Given the description of an element on the screen output the (x, y) to click on. 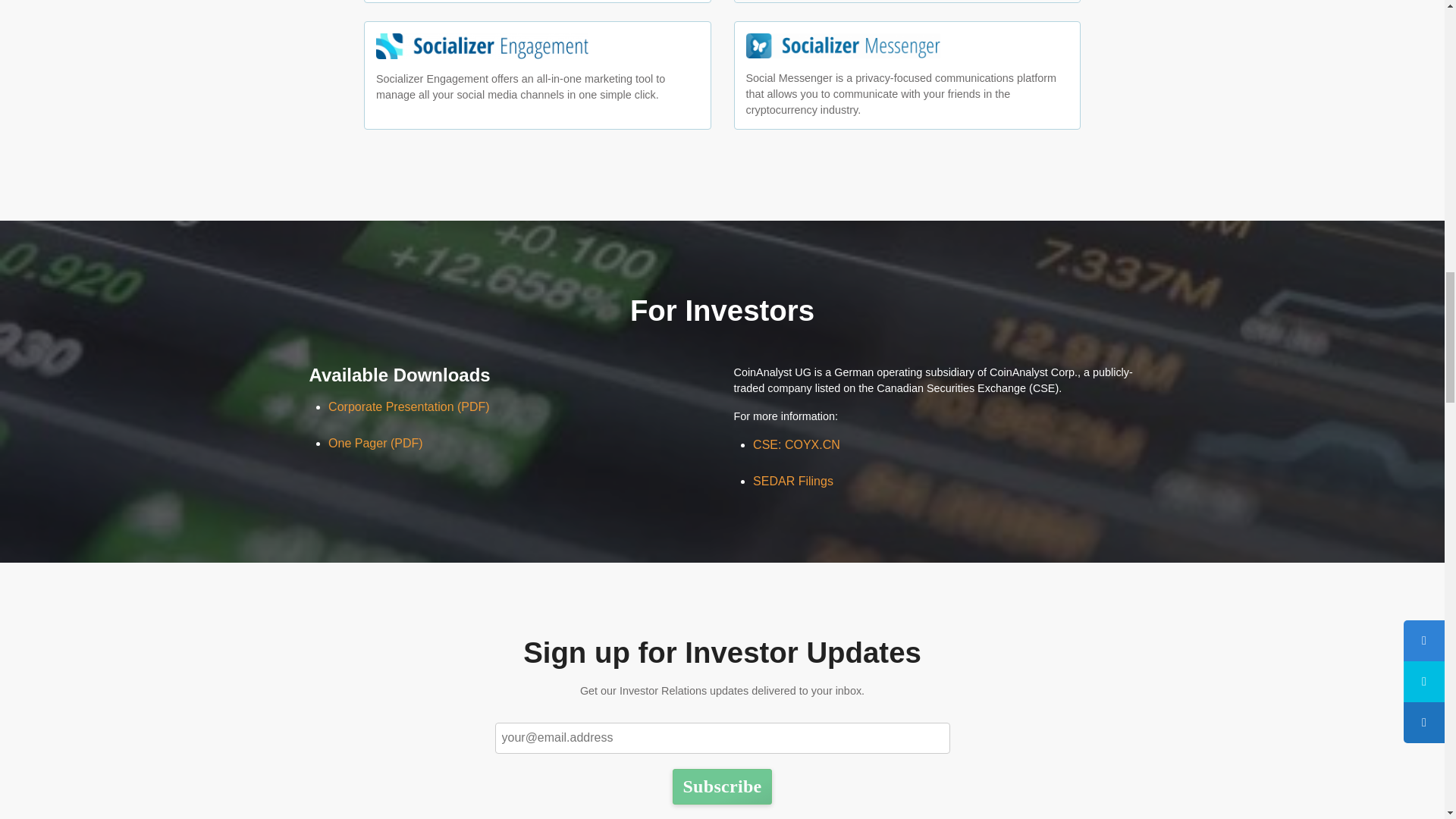
Subscribe (721, 786)
CSE: COYX.CN (796, 444)
SEDAR Filings (792, 481)
